Given the description of an element on the screen output the (x, y) to click on. 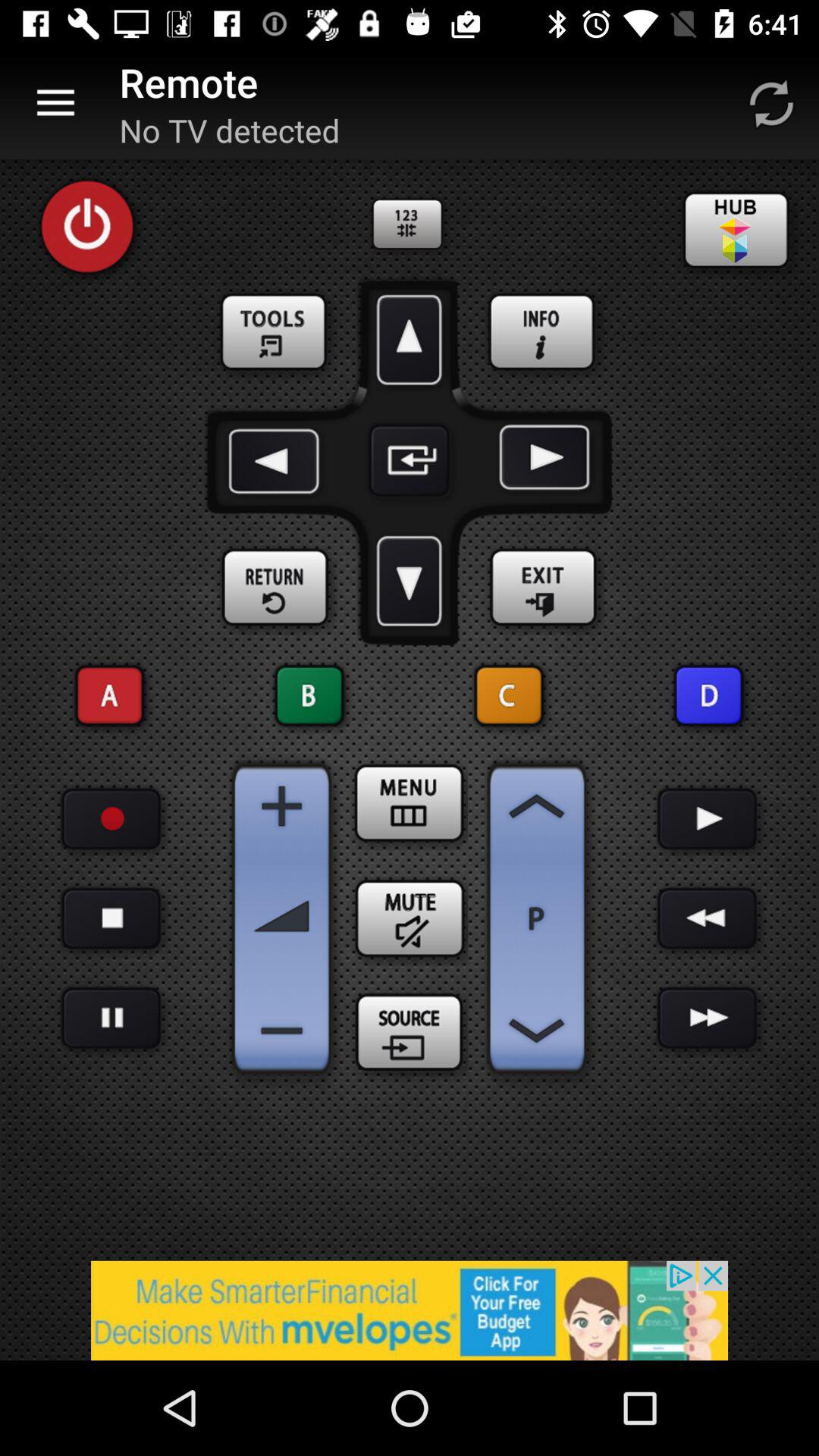
dowland the app (409, 581)
